Given the description of an element on the screen output the (x, y) to click on. 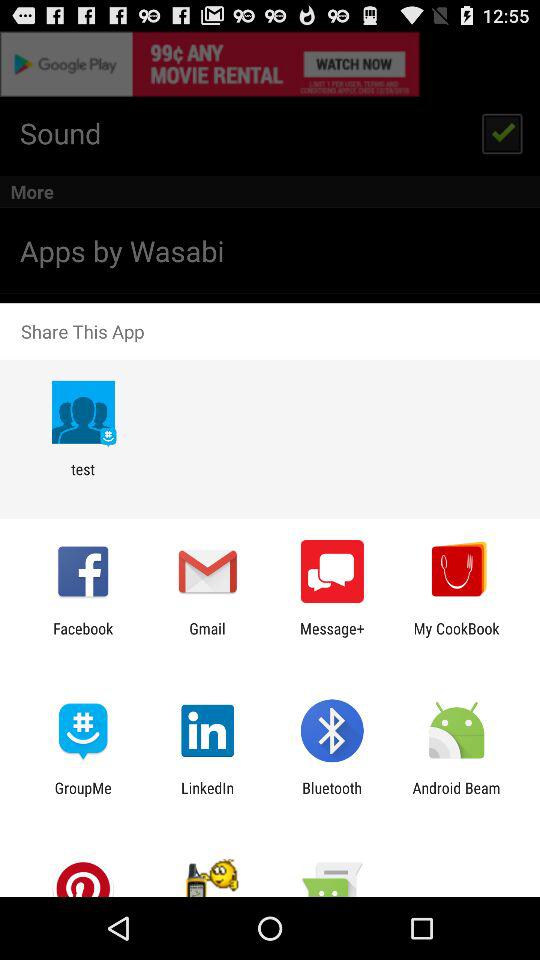
launch app to the left of gmail app (83, 637)
